Given the description of an element on the screen output the (x, y) to click on. 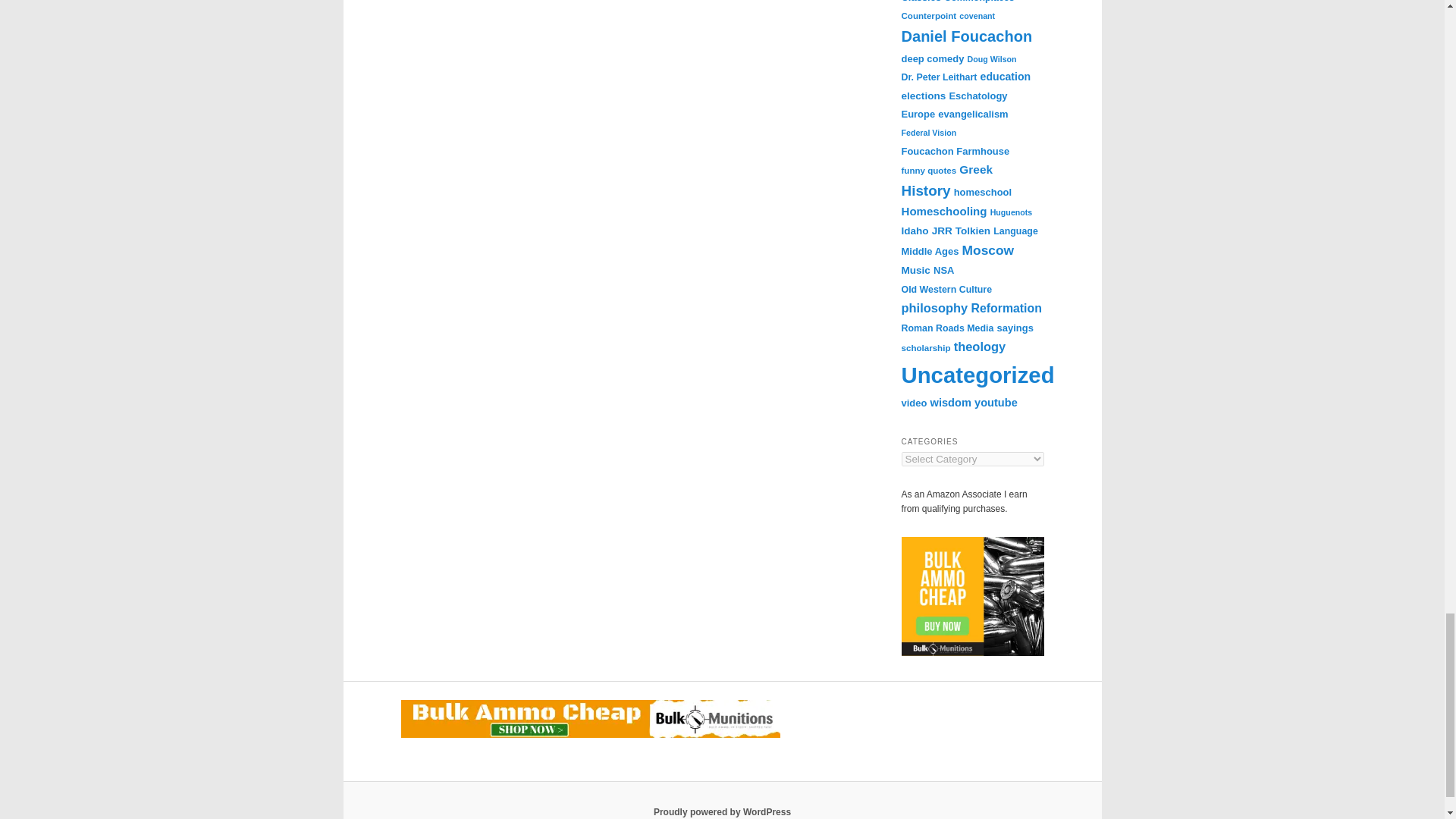
BulkMunitions (589, 734)
Semantic Personal Publishing Platform (721, 811)
BulkMunitions (972, 652)
